Given the description of an element on the screen output the (x, y) to click on. 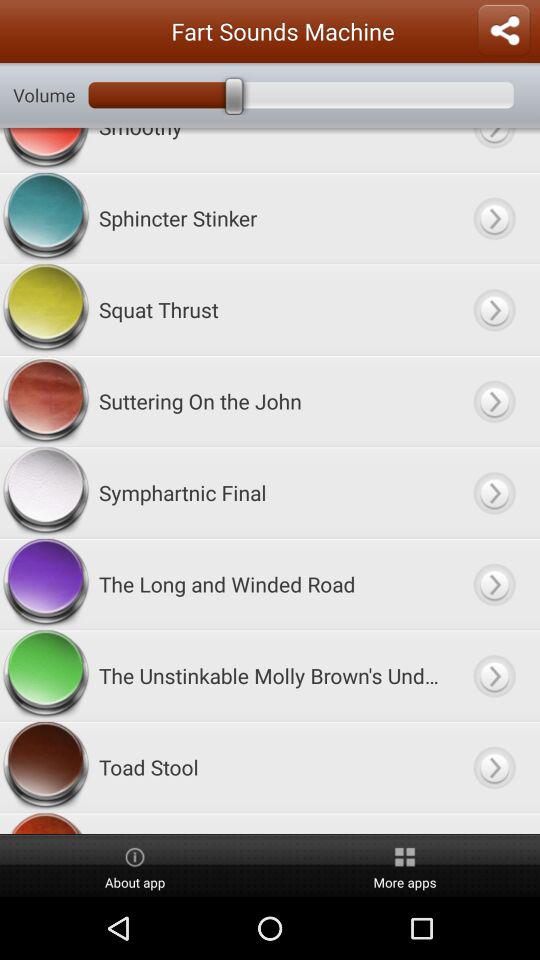
scroll to the suttering on the (269, 400)
